Given the description of an element on the screen output the (x, y) to click on. 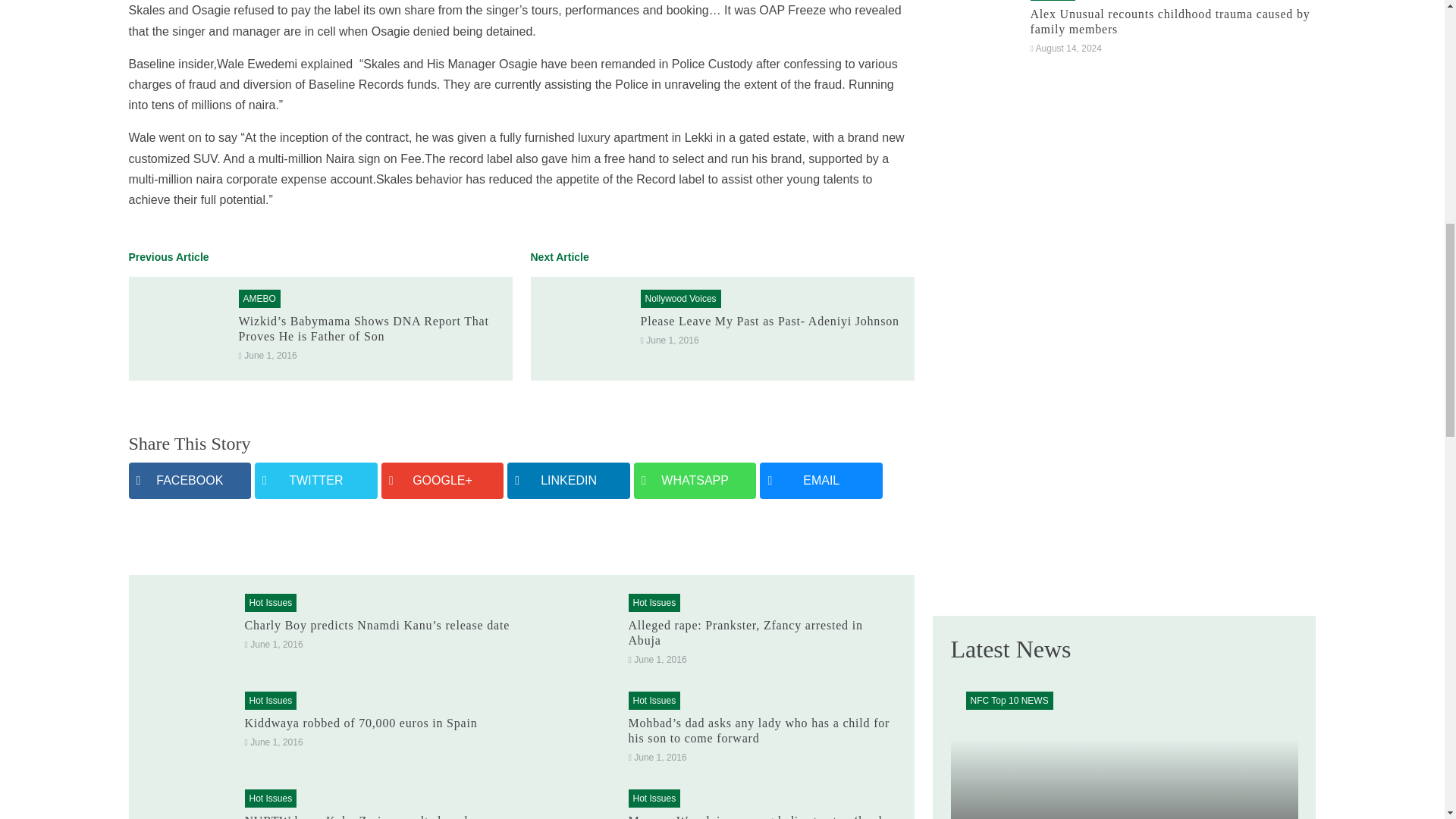
TWITTER (315, 479)
nollywood voices (680, 298)
AMEBO (259, 298)
Please Leave My Past as Past- Adeniyi Johnson (769, 320)
whatsapp (695, 479)
twitter (315, 479)
Please Leave My Past as Past- Adeniyi Johnson (769, 320)
FACEBOOK (190, 479)
facebook (190, 479)
googleplus (442, 479)
